Given the description of an element on the screen output the (x, y) to click on. 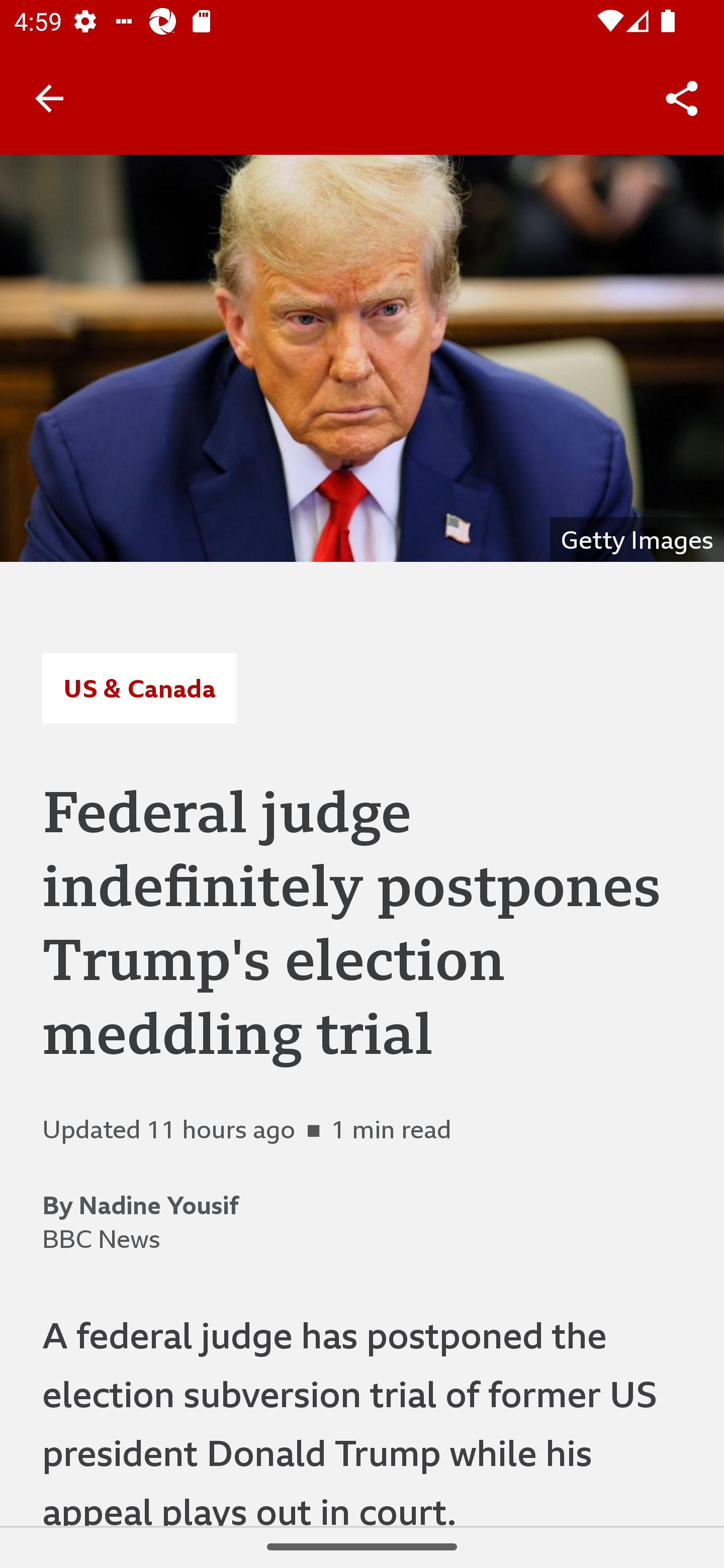
Back (49, 97)
Share (681, 98)
US & Canada (138, 688)
